Given the description of an element on the screen output the (x, y) to click on. 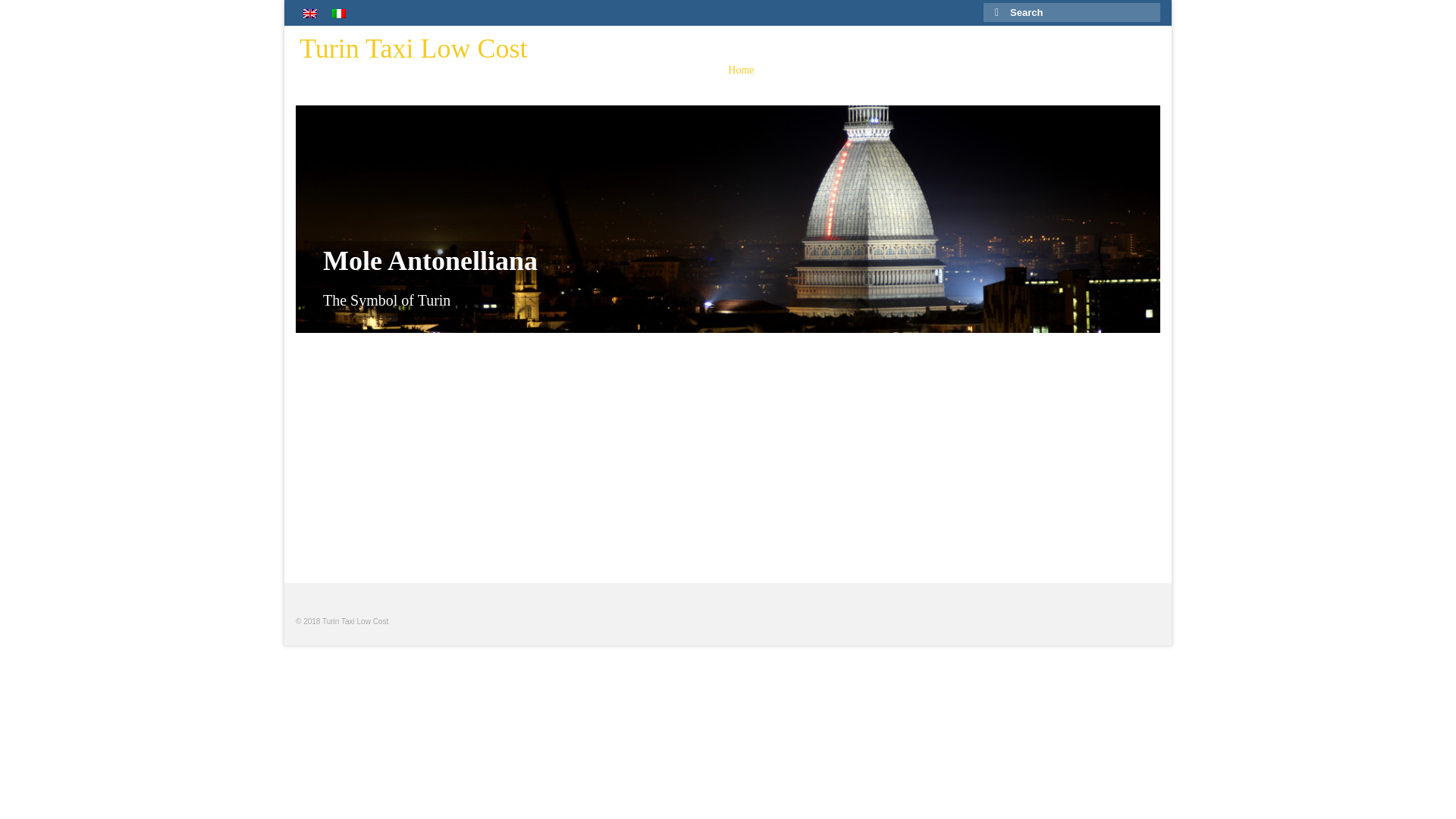
Why Us (801, 70)
Home (740, 70)
Turin Taxi Low Cost (413, 48)
Payments (1048, 70)
Services (871, 70)
Turin Taxi Low Cost (413, 48)
Fleet (933, 70)
Fares (986, 70)
Contacts (1122, 70)
